Given the description of an element on the screen output the (x, y) to click on. 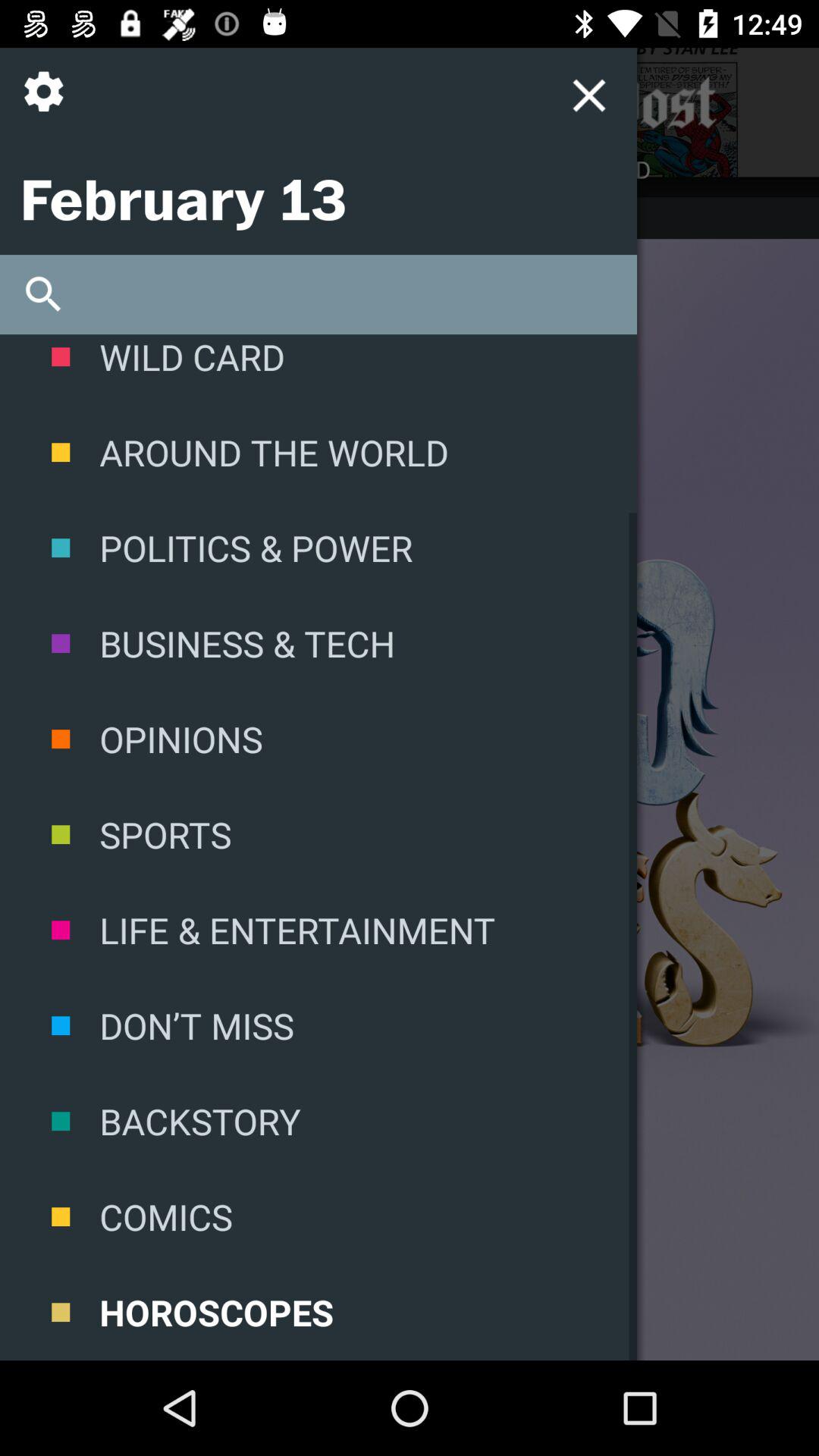
exit options menu (589, 95)
